Given the description of an element on the screen output the (x, y) to click on. 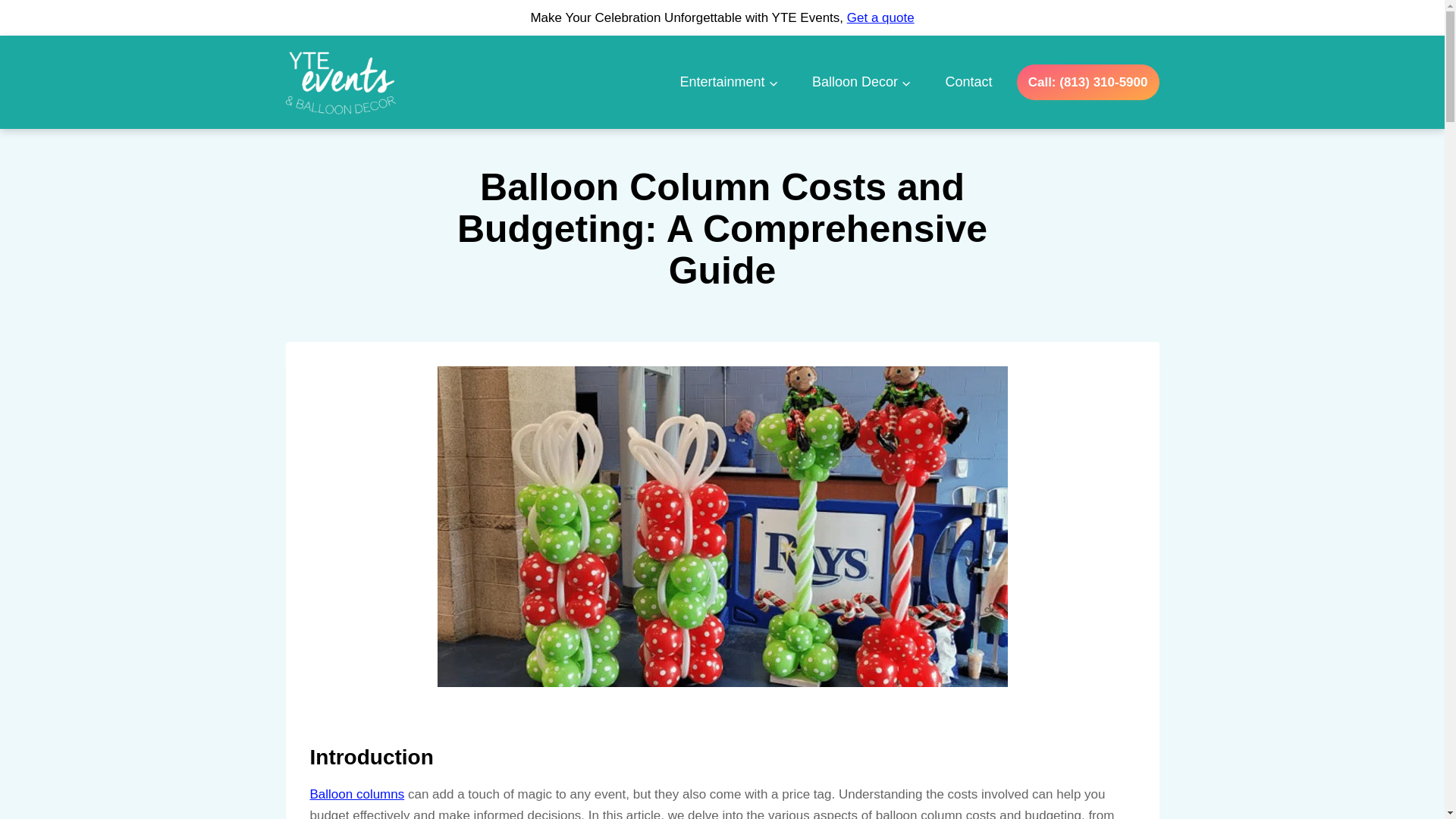
Get a quote (880, 17)
Entertainment (728, 82)
Contact (968, 82)
Balloon columns (356, 794)
Balloon Decor (861, 82)
Get a quote (880, 17)
